Given the description of an element on the screen output the (x, y) to click on. 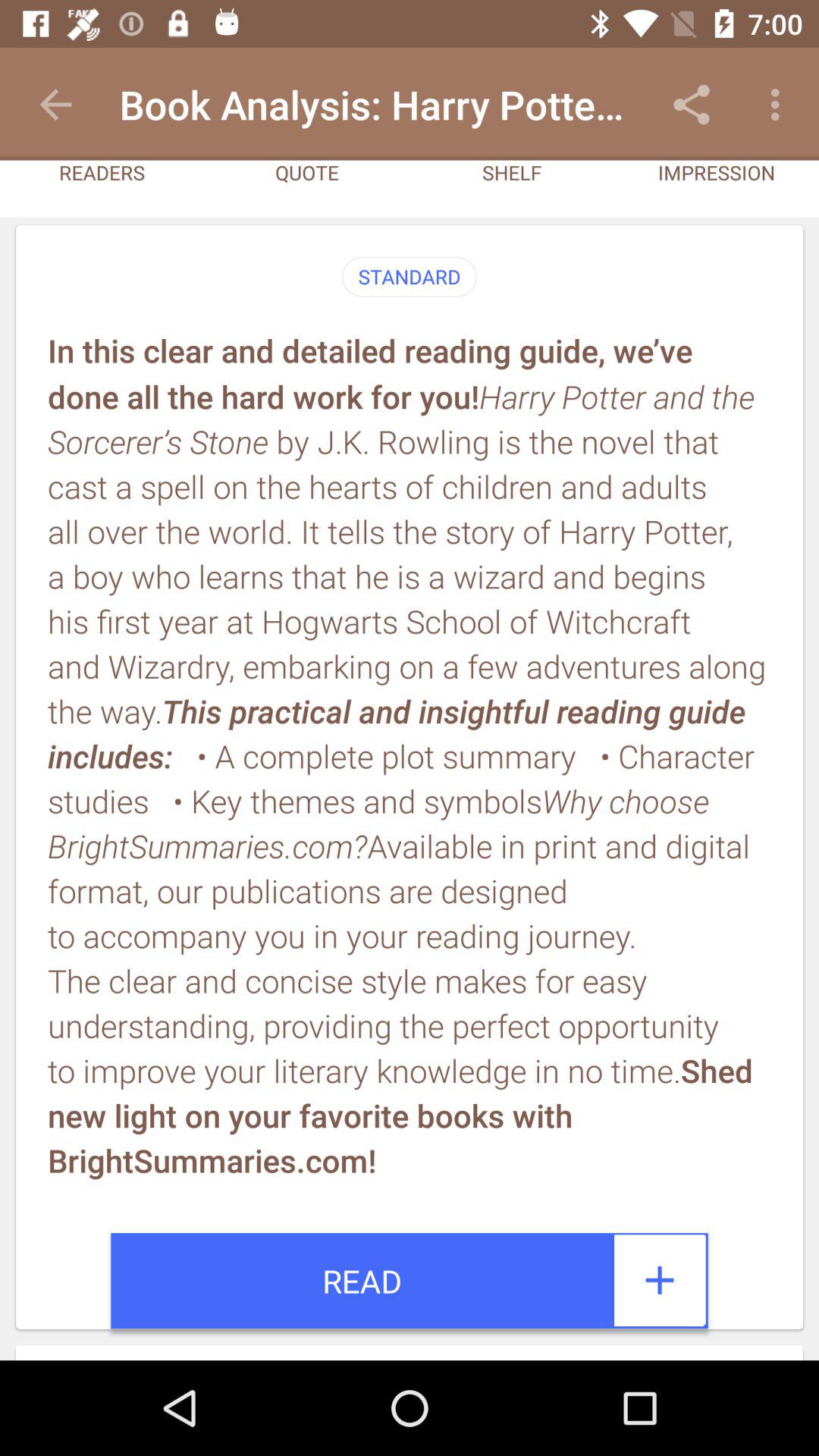
click on the share icon (691, 104)
